Given the description of an element on the screen output the (x, y) to click on. 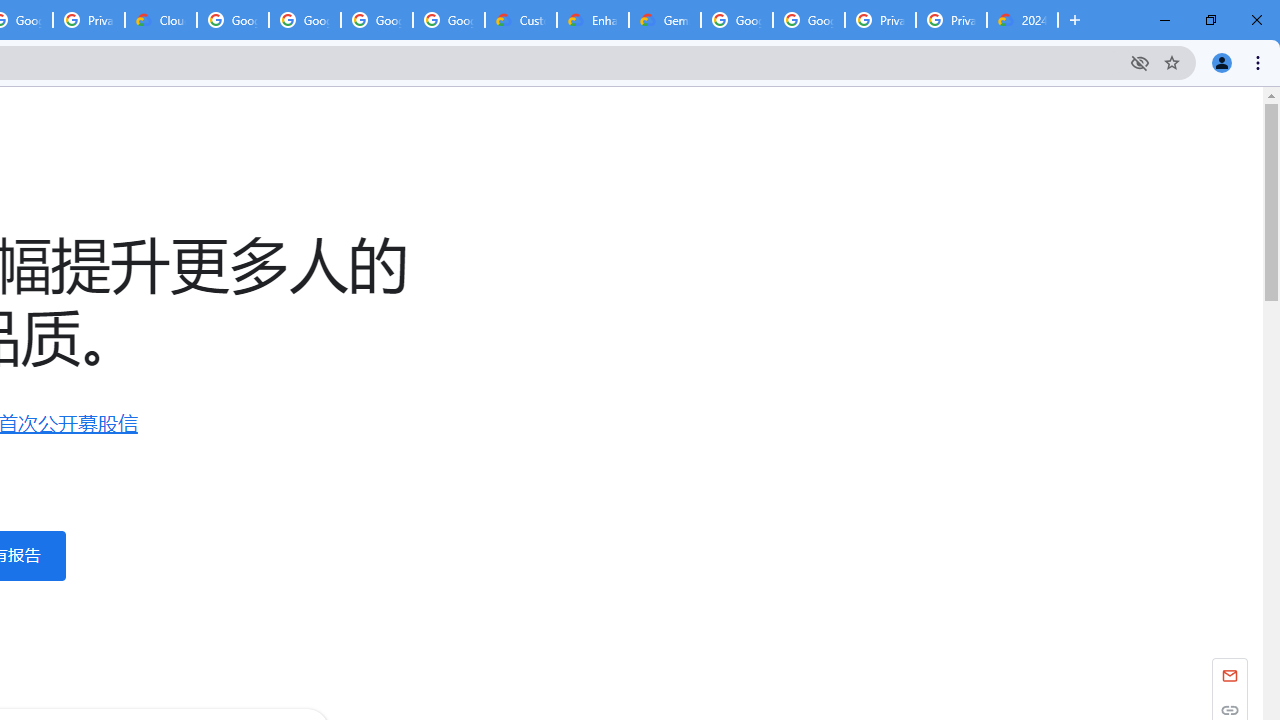
Customer Care | Google Cloud (520, 20)
Enhanced Support | Google Cloud (592, 20)
Google Workspace - Specific Terms (449, 20)
